Given the description of an element on the screen output the (x, y) to click on. 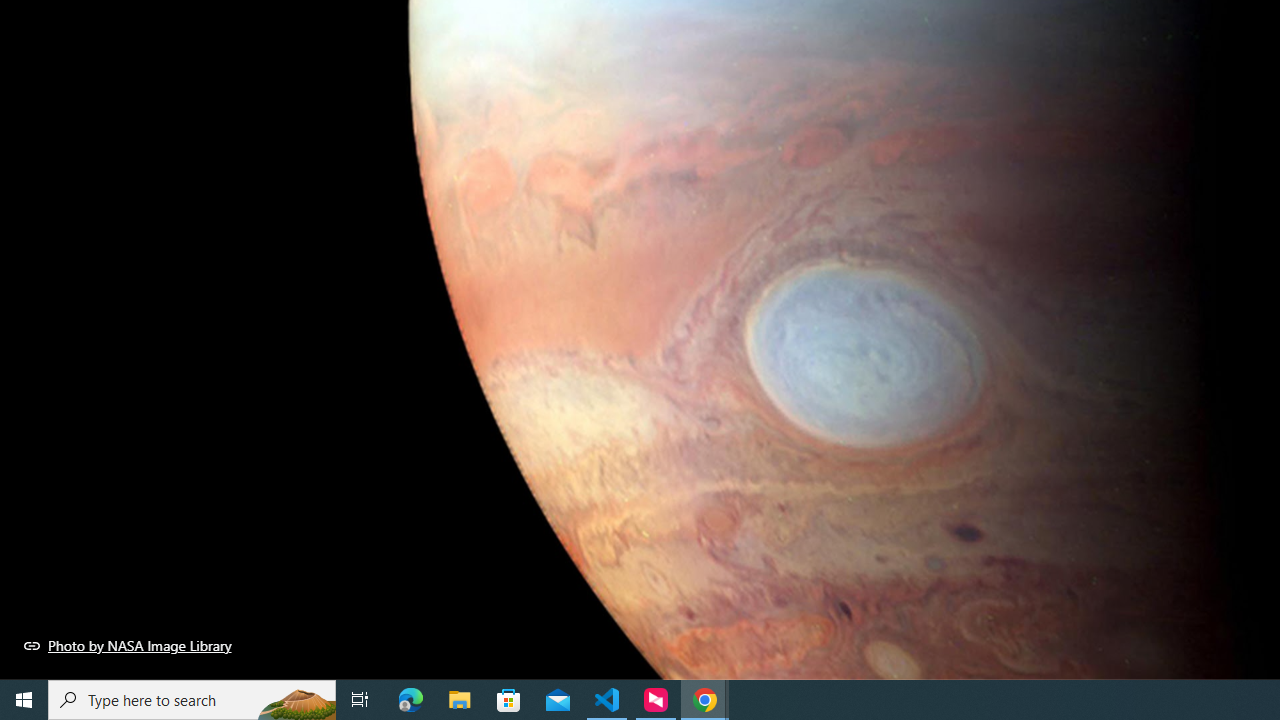
Visual Studio Code - 1 running window (607, 699)
Search highlights icon opens search home window (295, 699)
Type here to search (191, 699)
Microsoft Edge (411, 699)
Start (24, 699)
File Explorer (460, 699)
Google Chrome - 2 running windows (704, 699)
Photo by NASA Image Library (127, 645)
Microsoft Store (509, 699)
Task View (359, 699)
